Given the description of an element on the screen output the (x, y) to click on. 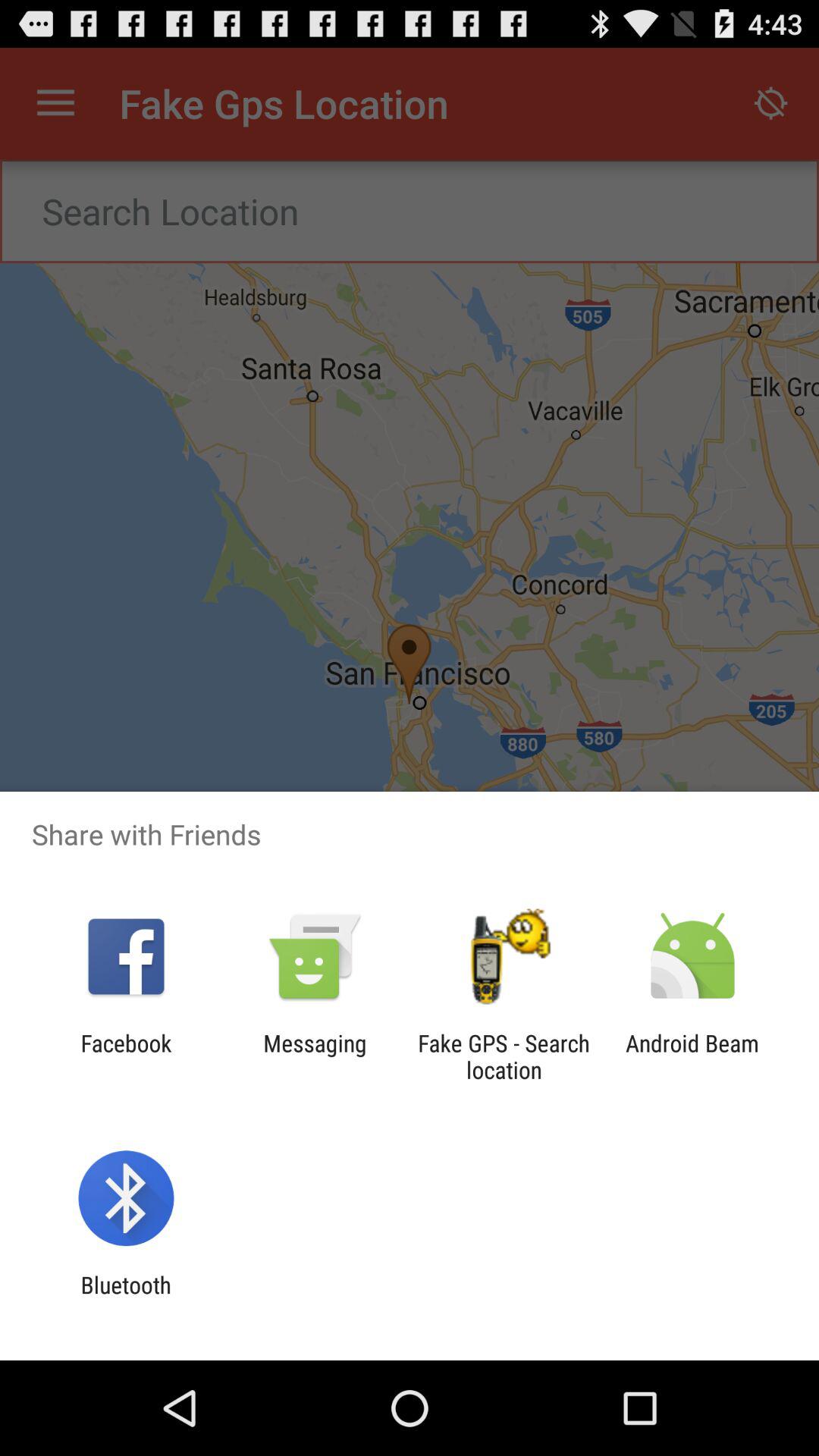
jump to fake gps search app (503, 1056)
